Given the description of an element on the screen output the (x, y) to click on. 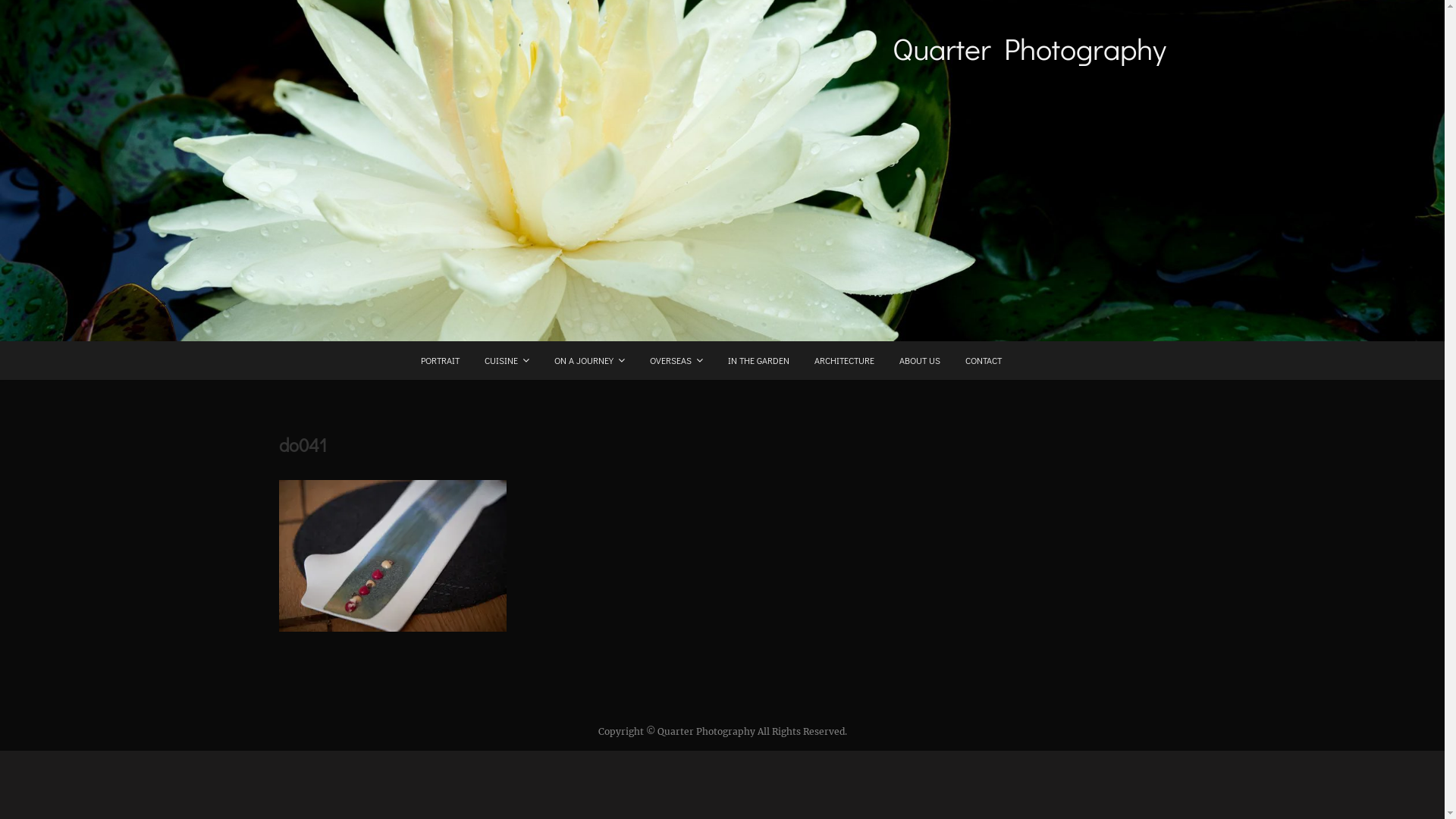
CONTACT Element type: text (983, 360)
IN THE GARDEN Element type: text (757, 360)
ON A JOURNEY Element type: text (589, 360)
PORTRAIT Element type: text (439, 360)
OVERSEAS Element type: text (676, 360)
ARCHITECTURE Element type: text (843, 360)
Quarter Photography Element type: text (1028, 48)
CUISINE Element type: text (506, 360)
ABOUT US Element type: text (918, 360)
